Given the description of an element on the screen output the (x, y) to click on. 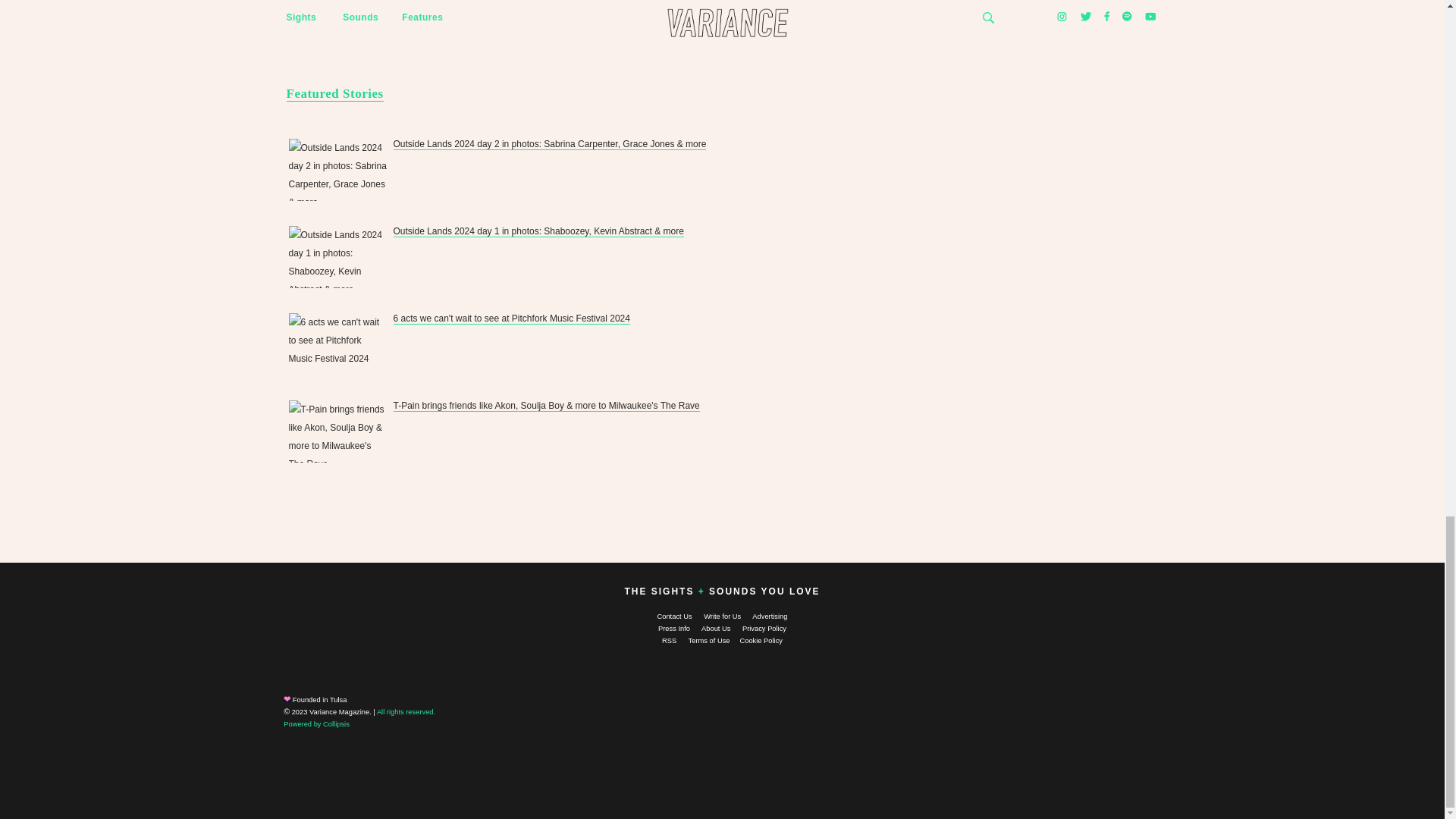
6 acts we can't wait to see at Pitchfork Music Festival 2024 (510, 318)
6 acts we can't wait to see at Pitchfork Music Festival 2024 (337, 344)
6 acts we can't wait to see at Pitchfork Music Festival 2024 (510, 318)
Add comment (328, 10)
6 acts we can't wait to see at Pitchfork Music Festival 2024 (337, 344)
